Given the description of an element on the screen output the (x, y) to click on. 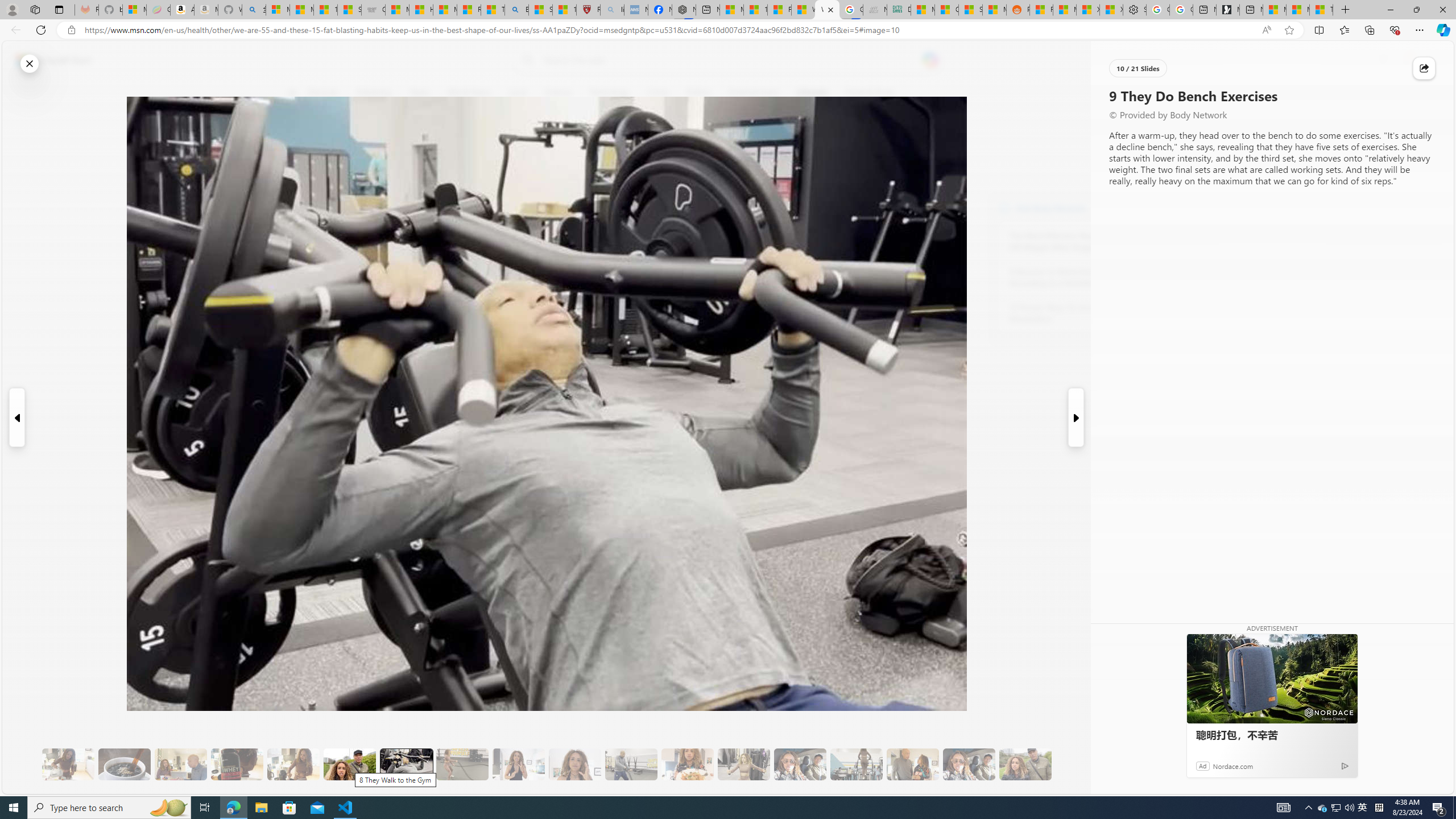
9 They Do Bench Exercises (406, 764)
Politics (698, 92)
Food & Drink (865, 92)
Combat Siege (373, 9)
Dislike (299, 170)
20 Overall, It Will Improve Your Health (1024, 764)
